Given the description of an element on the screen output the (x, y) to click on. 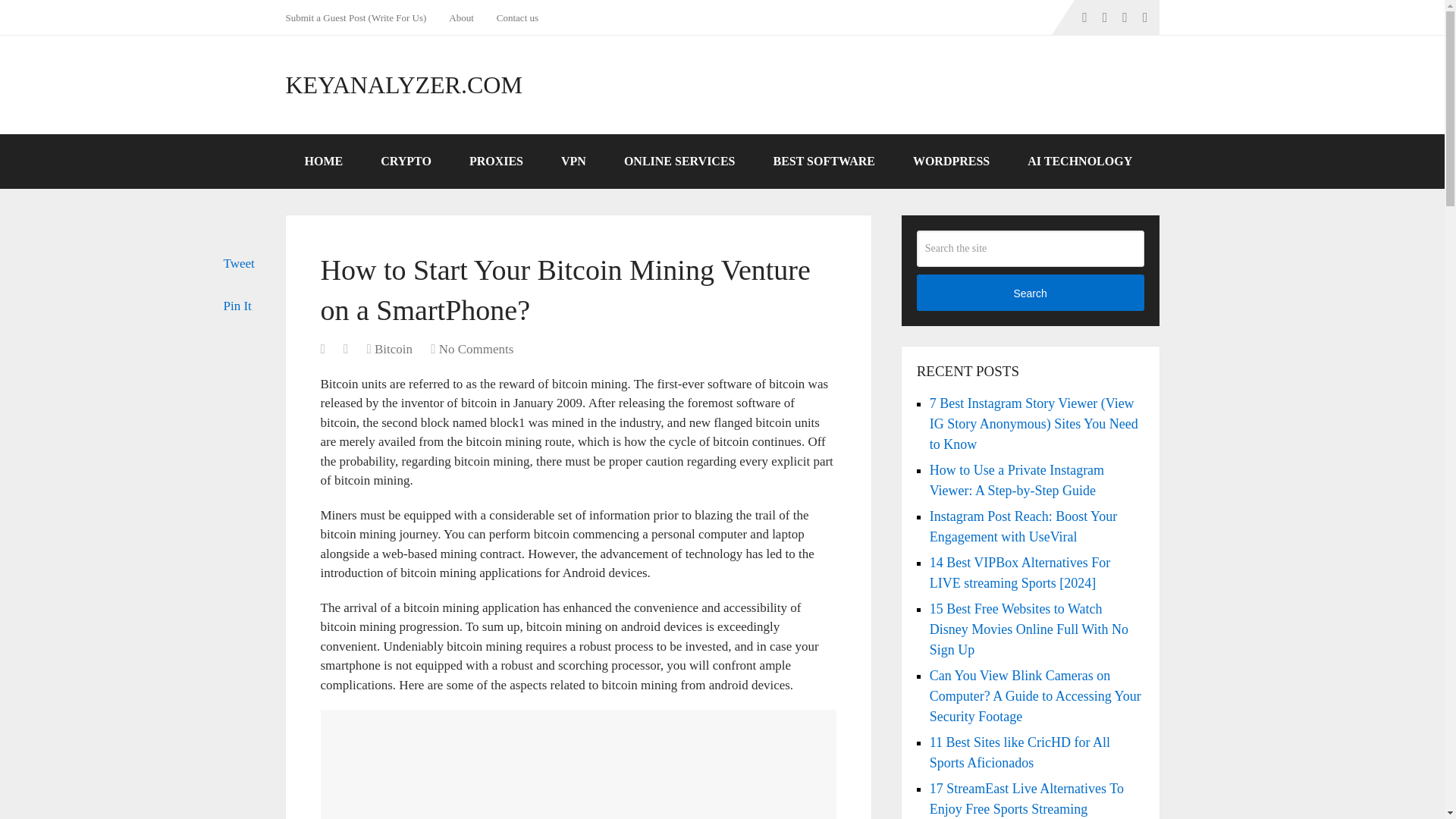
AI TECHNOLOGY (1080, 161)
PROXIES (495, 161)
HOME (323, 161)
Bitcoin (393, 349)
Tweet (237, 263)
About (461, 17)
Pin It (236, 305)
VPN (573, 161)
WORDPRESS (951, 161)
How to Start Your Bitcoin Mining Venture on a SmartPhone? 1 (577, 764)
Search (1030, 292)
No Comments (476, 349)
KEYANALYZER.COM (403, 84)
CRYPTO (405, 161)
Contact us (517, 17)
